Given the description of an element on the screen output the (x, y) to click on. 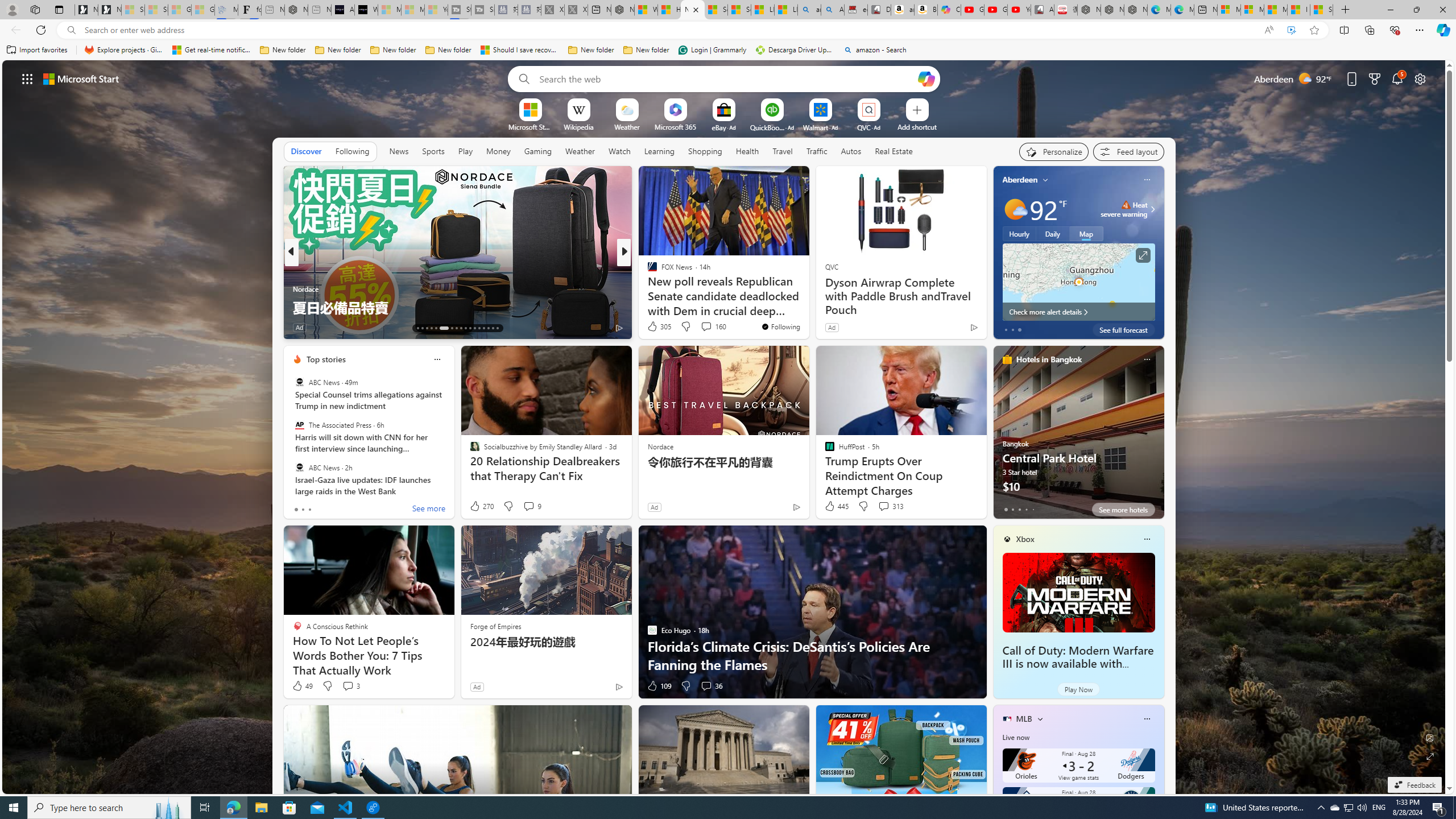
Larger map  (1077, 282)
Autos (851, 151)
View comments 5 Comment (698, 327)
View comments 9 Comment (528, 505)
Microsoft start (81, 78)
AutomationID: tab-24 (474, 328)
Health (746, 151)
Import favorites (36, 49)
Class: weather-arrow-glyph (1152, 208)
Class: control (27, 78)
ABC News (299, 466)
